Given the description of an element on the screen output the (x, y) to click on. 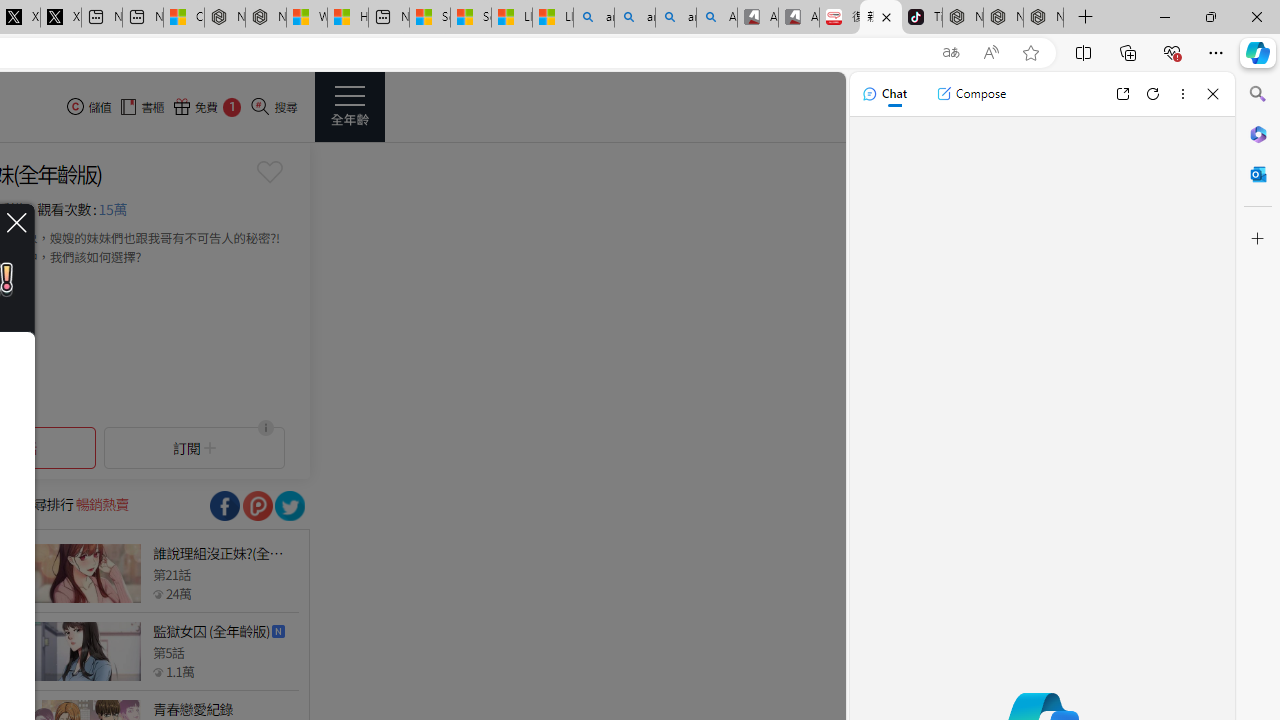
All Cubot phones (799, 17)
Nordace Siena Pro 15 Backpack (1003, 17)
amazon - Search Images (675, 17)
Class: side_menu_btn actionRightMenuBtn (349, 106)
Class: thumb_img (85, 651)
